Given the description of an element on the screen output the (x, y) to click on. 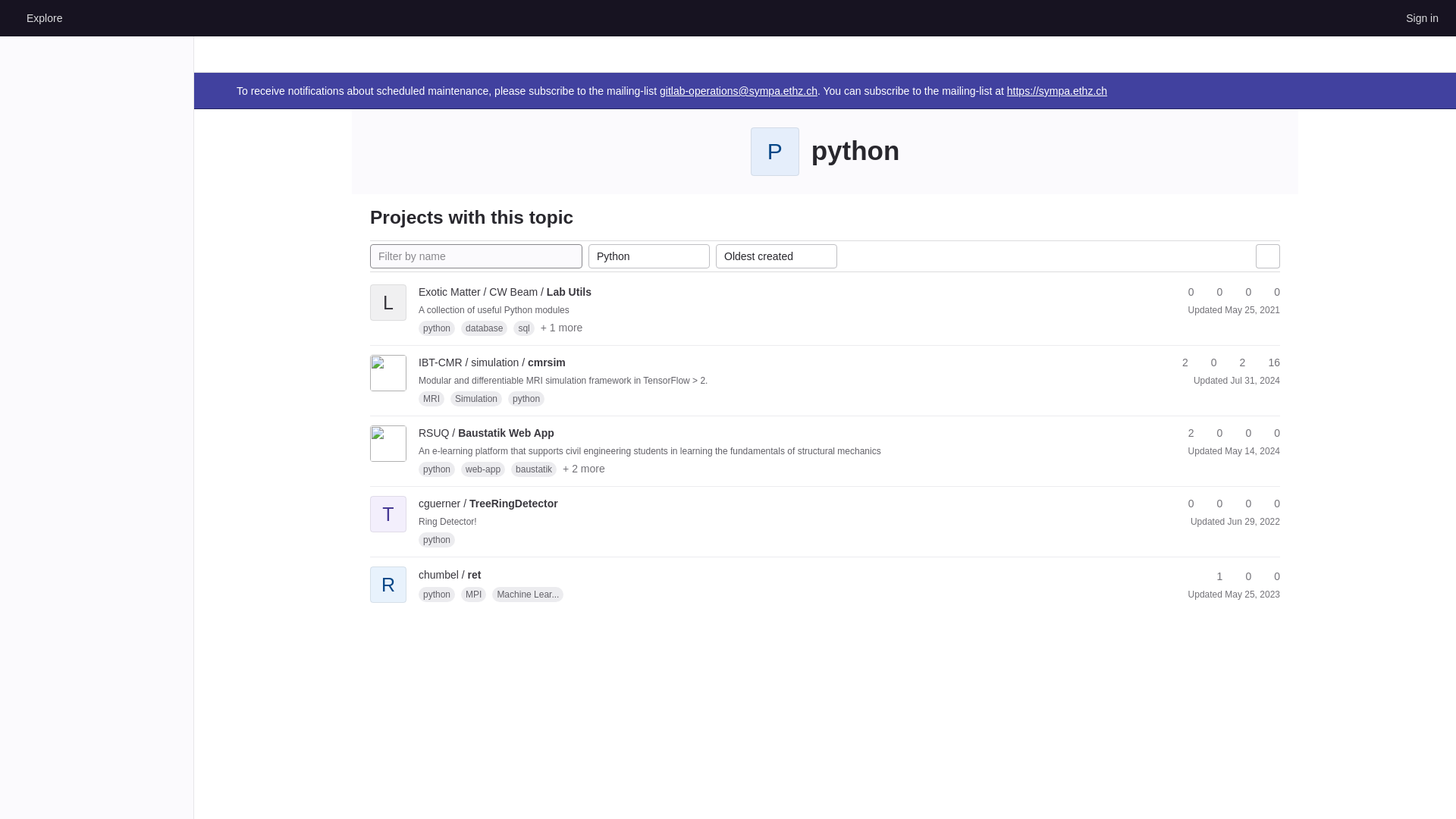
Sign in (1421, 17)
Forks (1206, 362)
Lab Utils (505, 291)
cmrsim (492, 362)
Oldest created (776, 256)
Forks (1213, 292)
Merge requests (1235, 362)
Stars (1183, 292)
Python (649, 256)
Subscribe to the new projects feed (1267, 256)
